Given the description of an element on the screen output the (x, y) to click on. 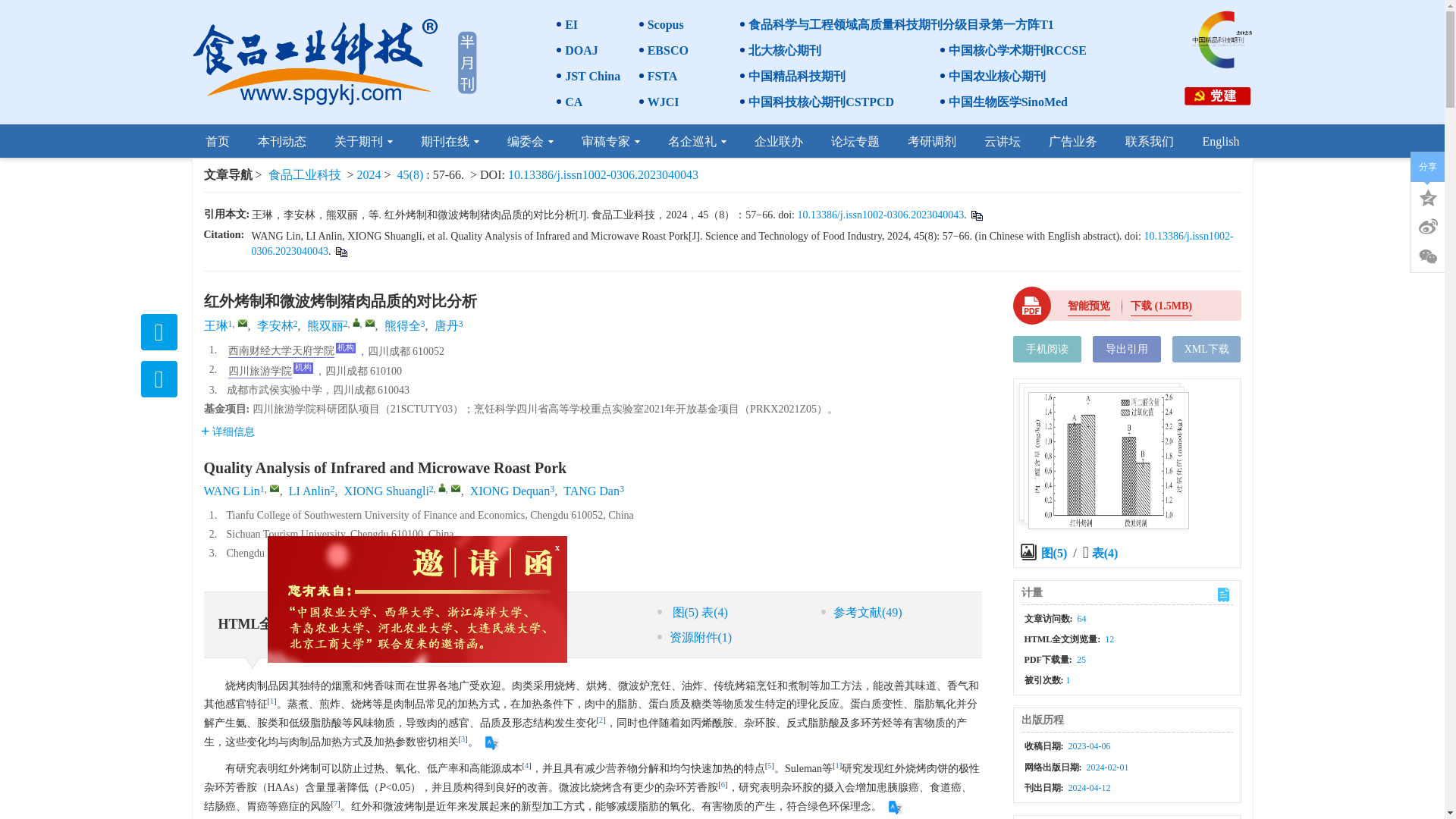
Translate this paragraph (895, 807)
Translate this paragraph (491, 743)
copy to clipboard (339, 251)
